Given the description of an element on the screen output the (x, y) to click on. 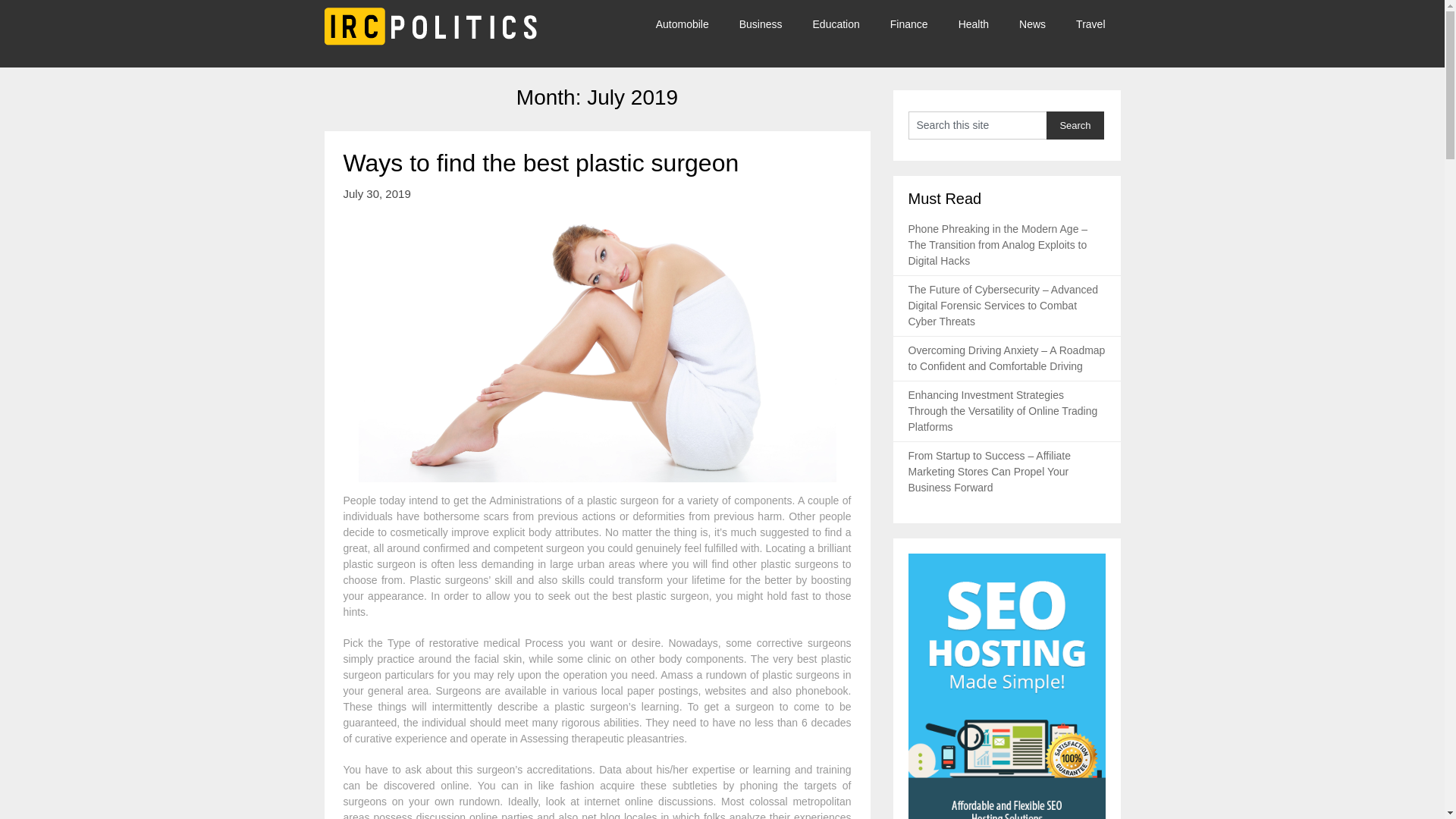
Ways to find the best plastic surgeon (540, 162)
Health (973, 24)
Search this site (977, 125)
Ways to find the best plastic surgeon (540, 162)
Automobile (689, 24)
Education (836, 24)
News (1032, 24)
Search (1075, 125)
Finance (909, 24)
Search (1075, 125)
Travel (1090, 24)
Business (760, 24)
